Given the description of an element on the screen output the (x, y) to click on. 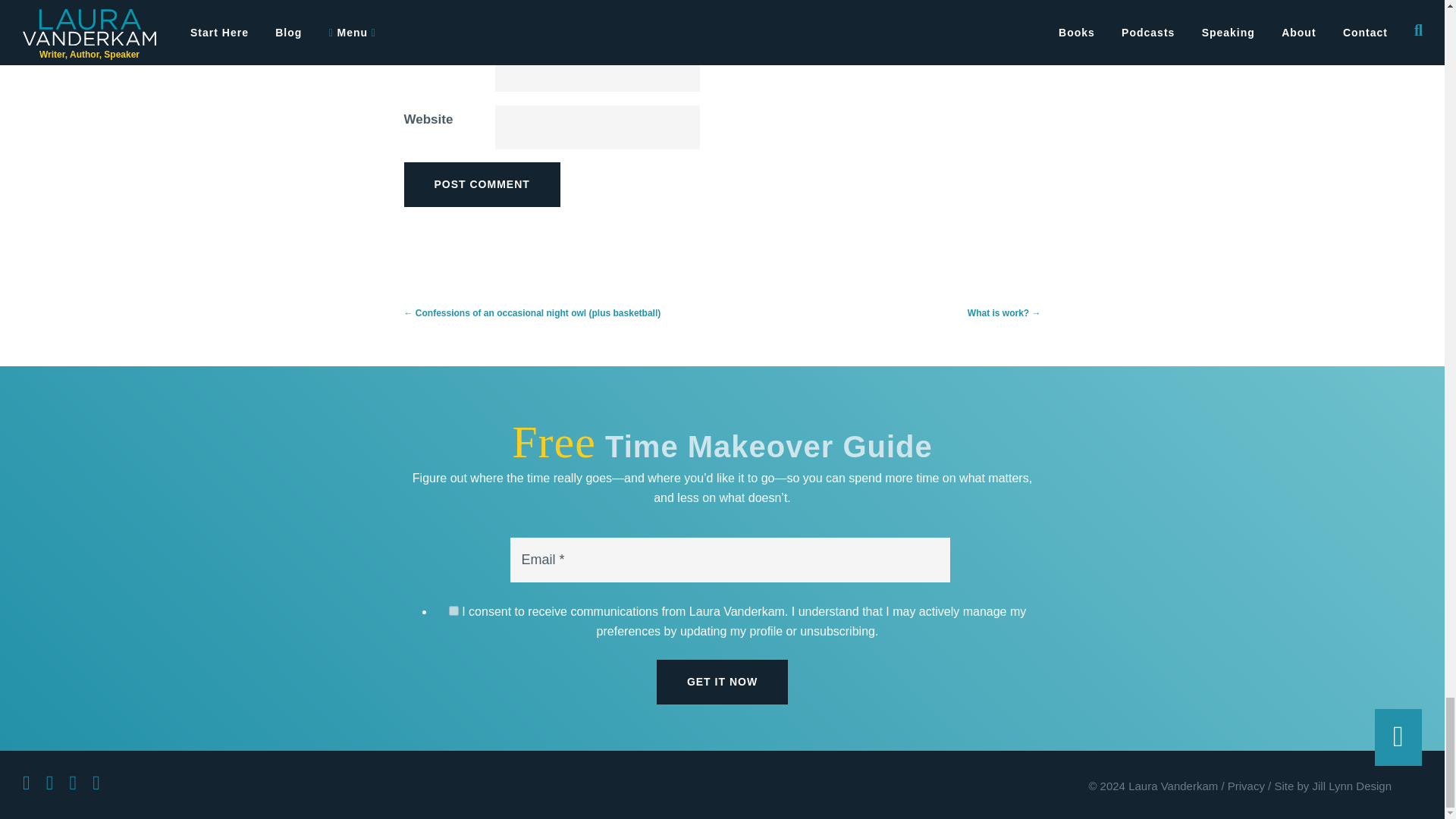
Get It Now (721, 681)
Post Comment (481, 184)
Atlanta WordPress Designer and Developer (1332, 785)
